Given the description of an element on the screen output the (x, y) to click on. 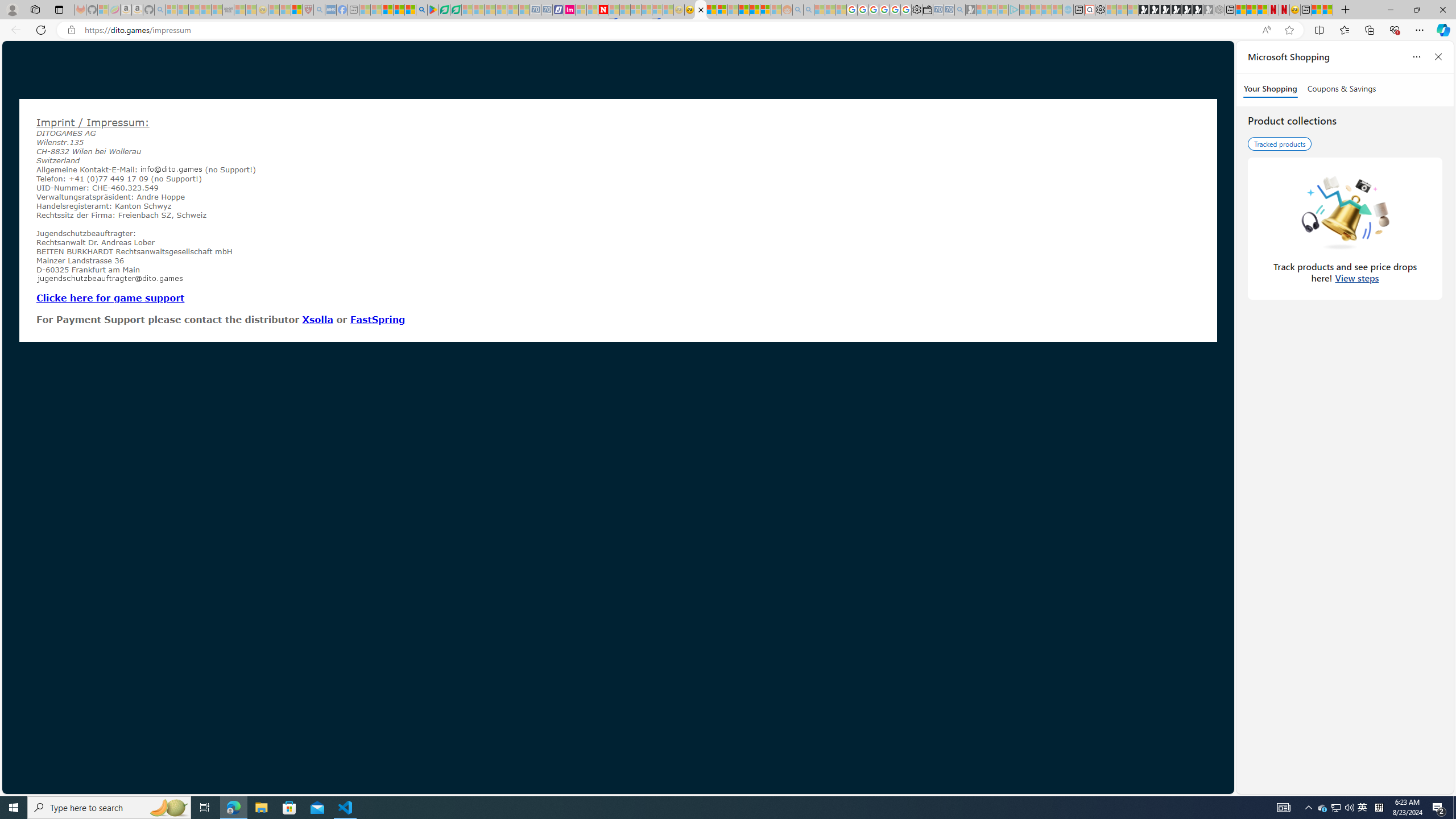
New tab - Sleeping (353, 9)
Terms of Use Agreement (443, 9)
Bluey: Let's Play! - Apps on Google Play (433, 9)
Combat Siege (228, 9)
